Given the description of an element on the screen output the (x, y) to click on. 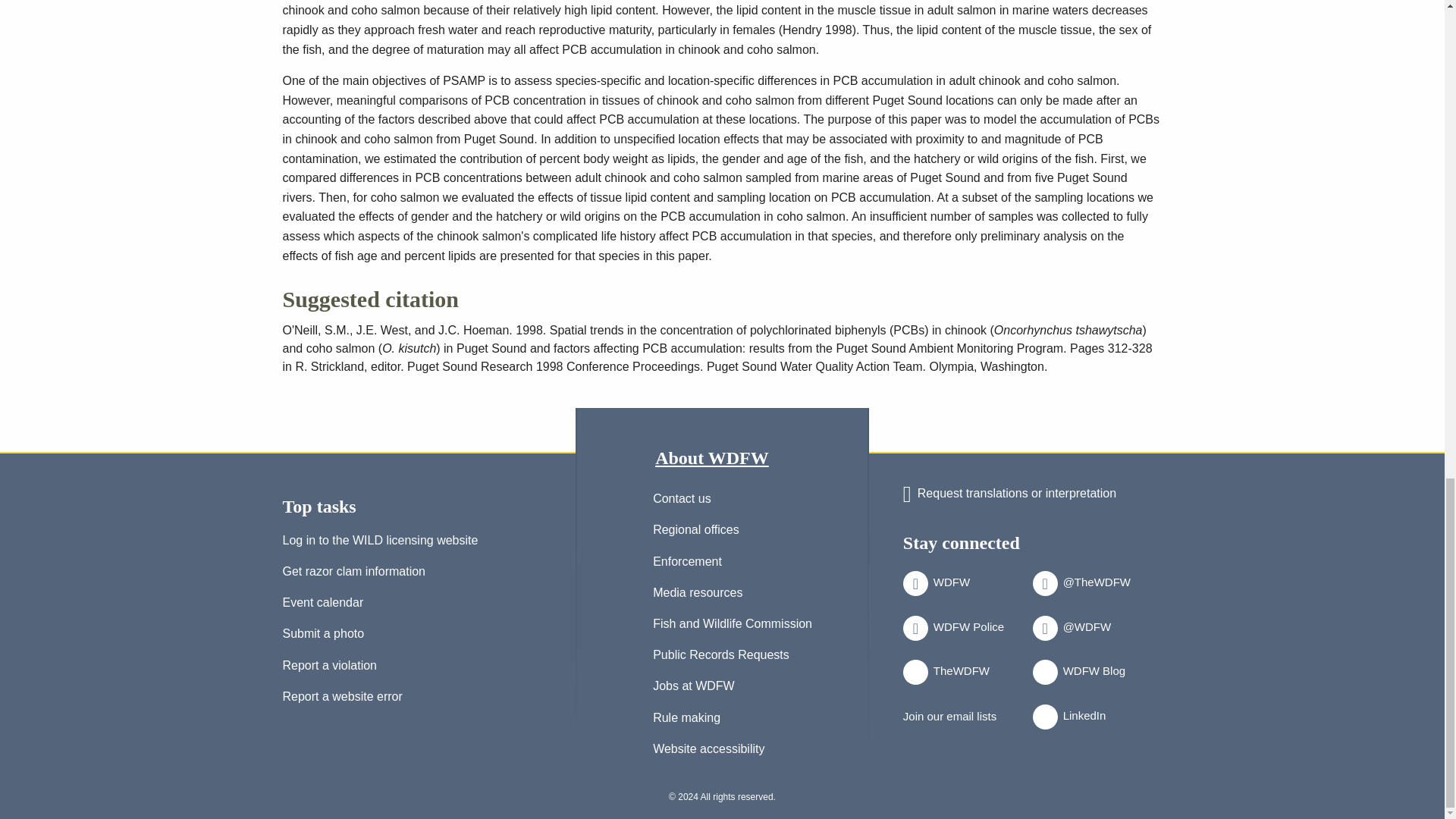
Find WDFW regional offices (695, 532)
Public records requests (720, 657)
Request translations or interpretation  (1009, 493)
